Given the description of an element on the screen output the (x, y) to click on. 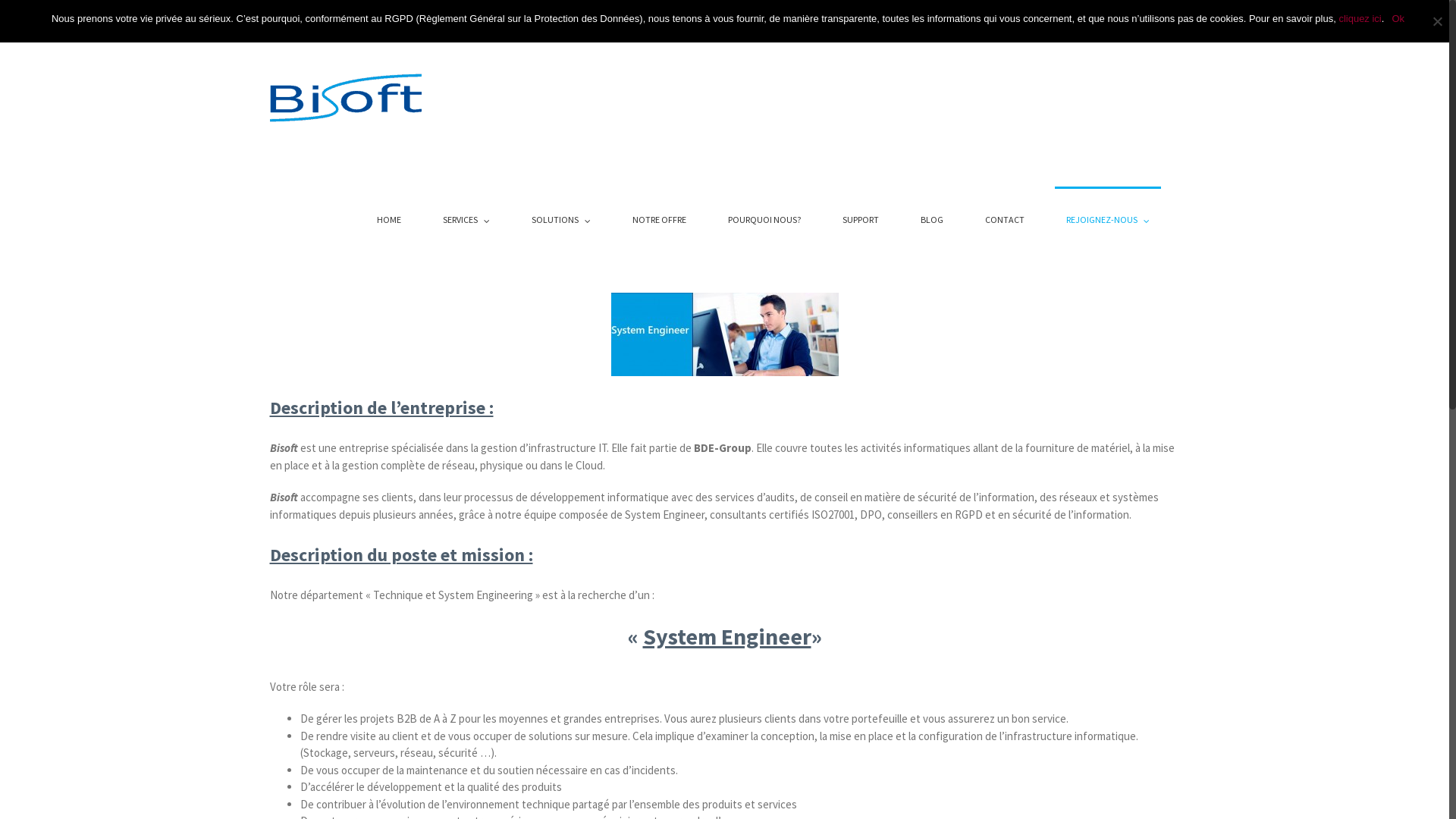
BLOG Element type: text (930, 218)
Nous Element type: text (931, 15)
SERVICES Element type: text (465, 218)
Bisoft IT SERVICES Element type: text (995, 15)
Vous Element type: text (895, 15)
NOTRE OFFRE Element type: text (658, 218)
Ecologic IT Equipement Element type: text (1104, 15)
HOME Element type: text (388, 218)
CONTACT Element type: text (1004, 218)
POURQUOI NOUS? Element type: text (763, 218)
SOLUTIONS Element type: text (561, 218)
cliquez ici Element type: text (1359, 18)
fr Element type: text (1172, 15)
REJOIGNEZ-NOUS Element type: text (1107, 218)
SUPPORT Element type: text (860, 218)
Ok Element type: text (1397, 18)
